Given the description of an element on the screen output the (x, y) to click on. 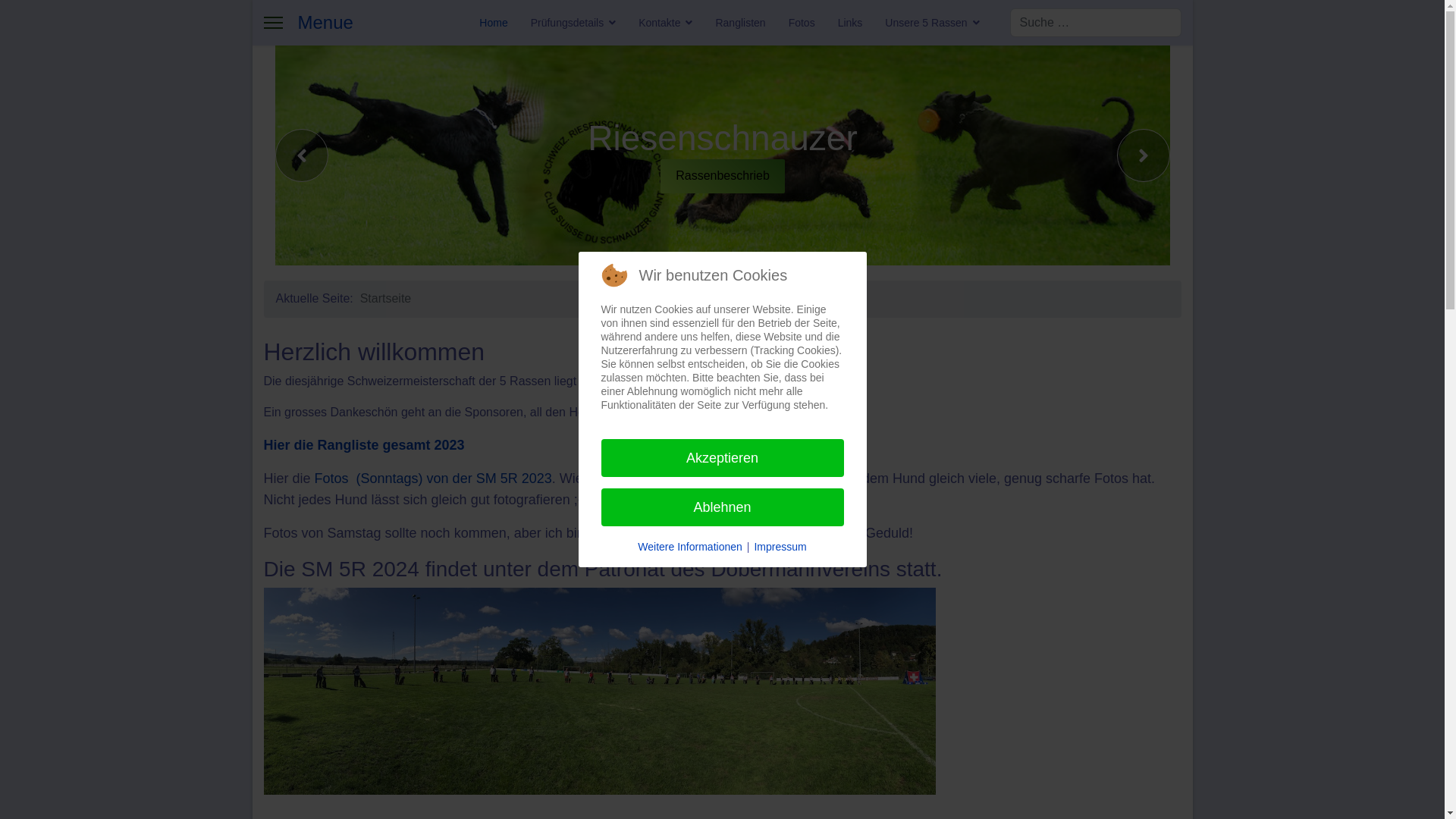
Fotos Element type: text (801, 22)
Home Element type: text (492, 22)
Hier die Rangliste gesamt 2023    Element type: text (369, 444)
Fotos  (Sonntags) von der SM 5R 2023 Element type: text (433, 478)
Menue Element type: text (324, 22)
Ablehnen Element type: text (721, 507)
Impressum Element type: text (779, 546)
Akzeptieren Element type: text (721, 457)
Kontakte Element type: text (665, 22)
Rassenbeschrieb Element type: text (722, 176)
Menu Element type: hover (272, 22)
Ranglisten Element type: text (739, 22)
Links Element type: text (850, 22)
Weitere Informationen Element type: text (689, 546)
